Given the description of an element on the screen output the (x, y) to click on. 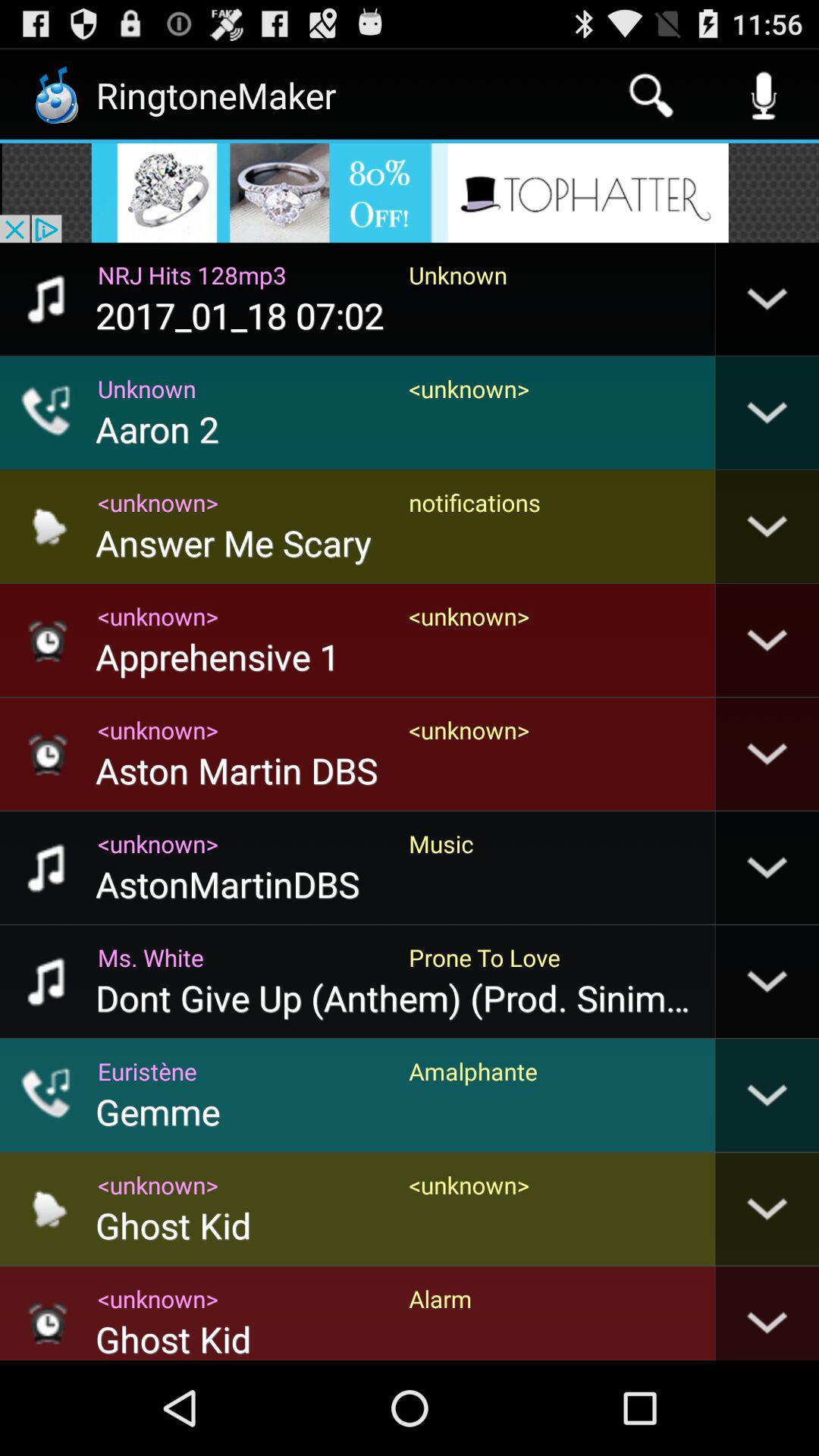
advertisement (409, 192)
